Given the description of an element on the screen output the (x, y) to click on. 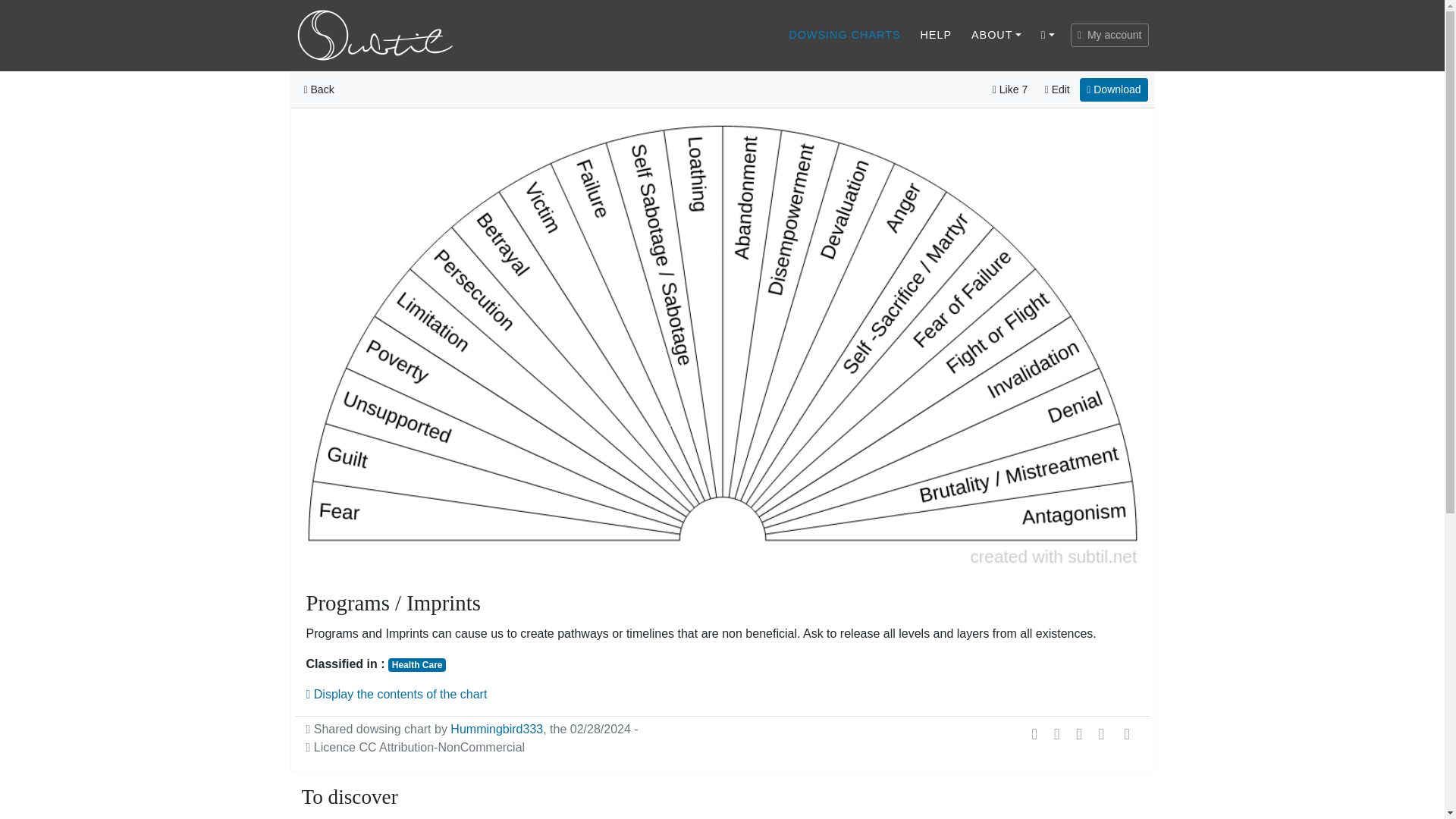
Health Care (416, 664)
 My account (1109, 34)
Edit (1057, 89)
Like 7 (1009, 89)
 Licence CC Attribution-NonCommercial (415, 747)
HELP (935, 35)
Hummingbird333 (496, 728)
Download (1113, 89)
Back (318, 89)
HELP (935, 35)
ABOUT (995, 35)
DOWSING CHARTS (844, 35)
Display the contents of the chart (396, 694)
Email (1126, 733)
